Given the description of an element on the screen output the (x, y) to click on. 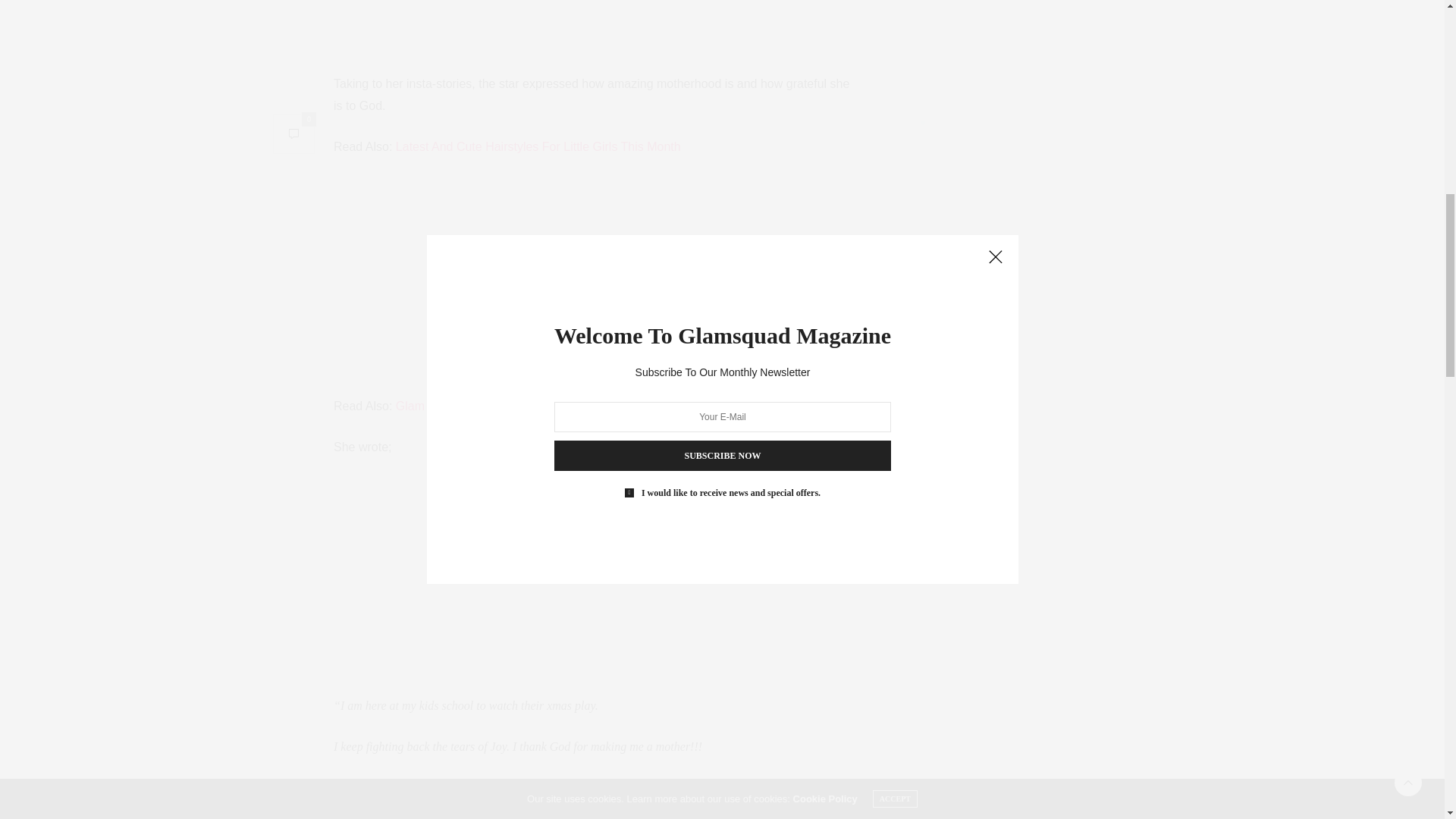
Latest And Cute Hairstyles For Little Girls This Month (538, 146)
